Given the description of an element on the screen output the (x, y) to click on. 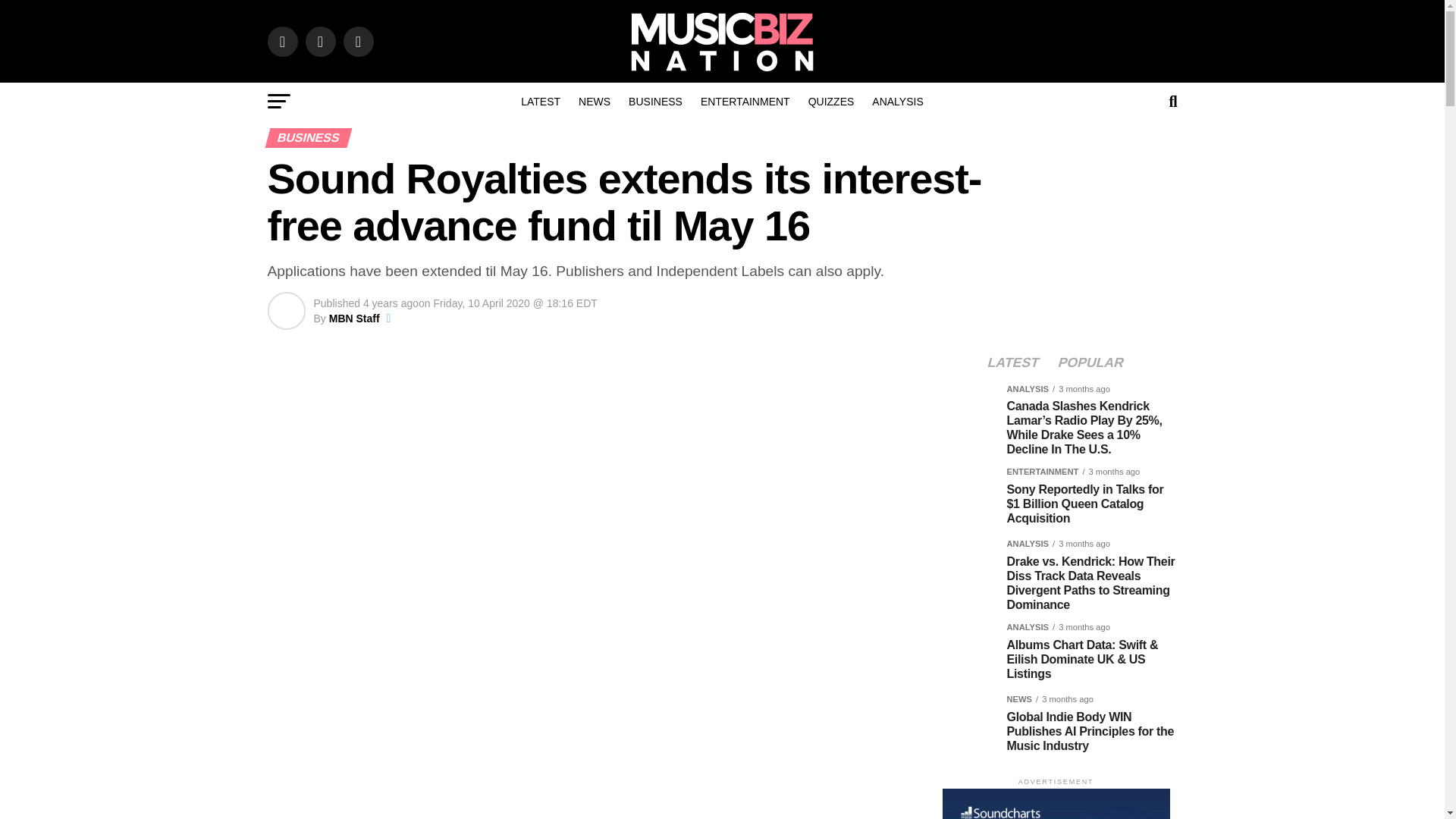
QUIZZES (831, 101)
BUSINESS (655, 101)
NEWS (594, 101)
ENTERTAINMENT (745, 101)
Posts by MBN Staff (354, 318)
ANALYSIS (897, 101)
LATEST (540, 101)
